Given the description of an element on the screen output the (x, y) to click on. 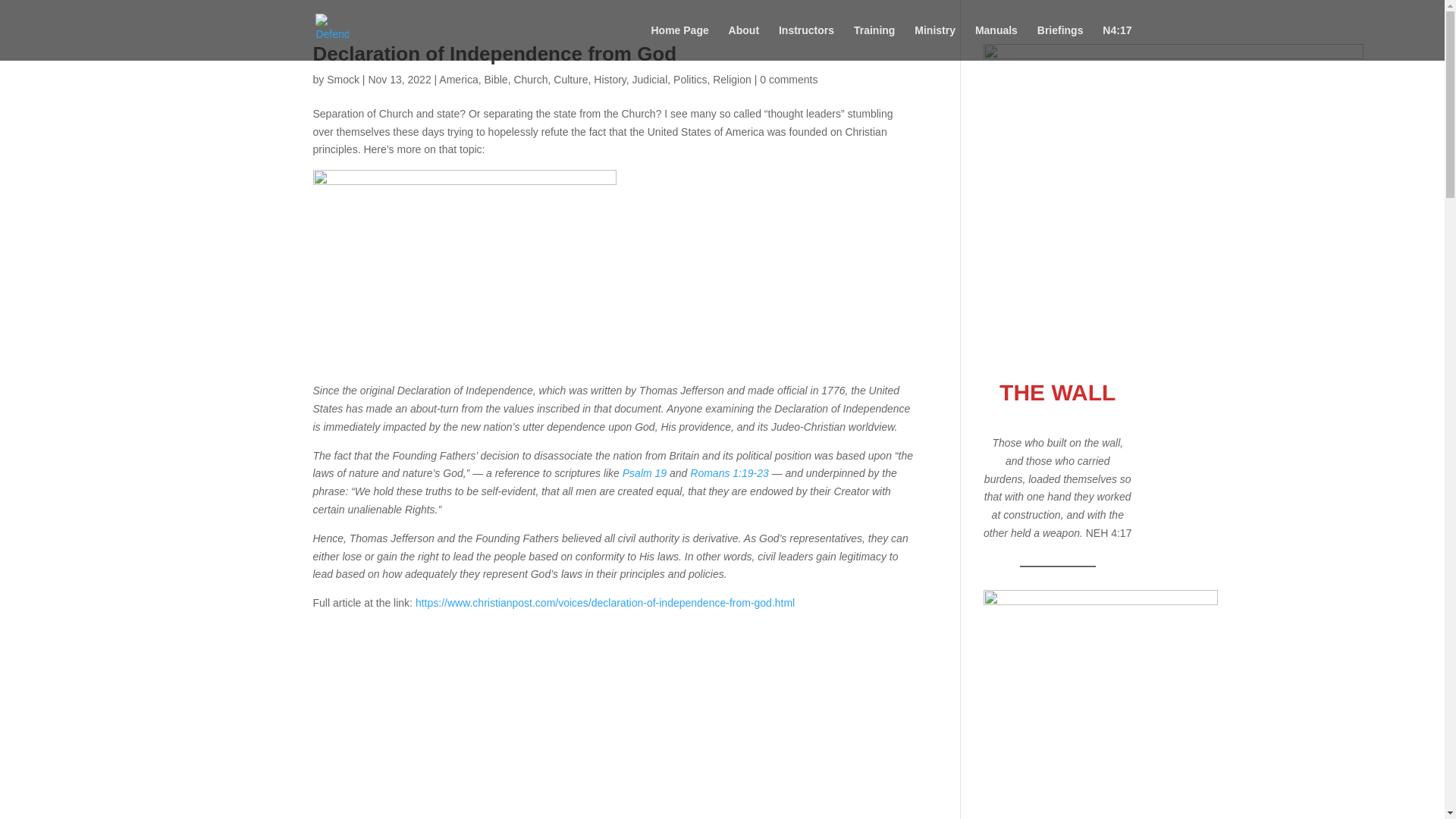
Training (874, 42)
Judicial (649, 79)
Psalm 19 (644, 472)
Home Page (678, 42)
America (458, 79)
Posts by Smock (342, 79)
Declaration of Independence from God (495, 53)
Culture (570, 79)
Religion (732, 79)
THE WALL (1056, 392)
